Given the description of an element on the screen output the (x, y) to click on. 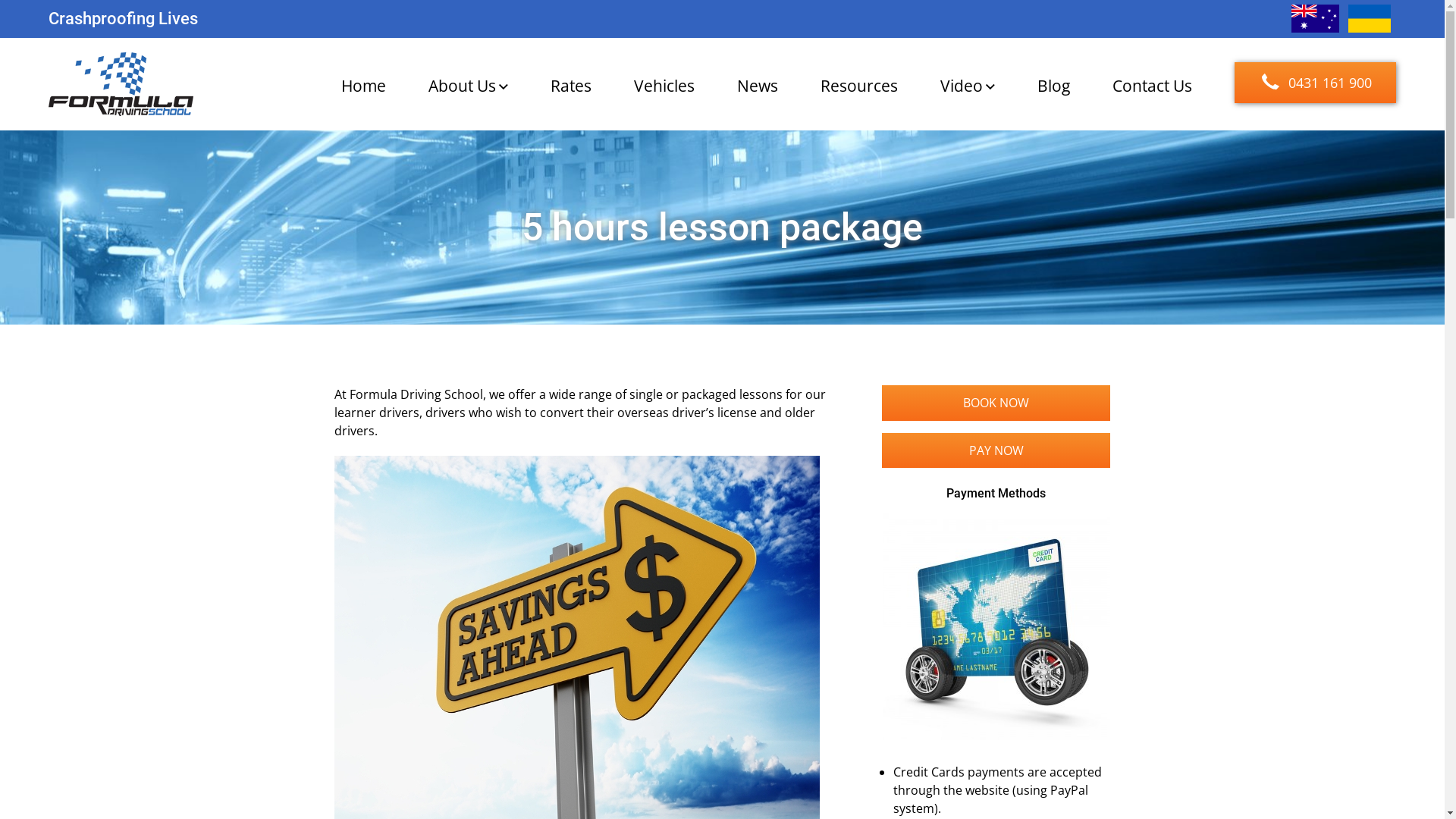
Contact Us Element type: text (1152, 85)
Australia Element type: text (1315, 18)
Home Element type: text (363, 85)
Return to homepage Element type: hover (120, 83)
Vehicles Element type: text (663, 85)
News Element type: text (757, 85)
Blog Element type: text (1053, 85)
Resources Element type: text (858, 85)
PAY NOW Element type: text (995, 450)
Rates Element type: text (570, 85)
BOOK NOW Element type: text (995, 402)
Russia Element type: text (1372, 18)
Video Element type: text (967, 85)
About Us Element type: text (468, 85)
0431 161 900 Element type: text (1315, 82)
